Given the description of an element on the screen output the (x, y) to click on. 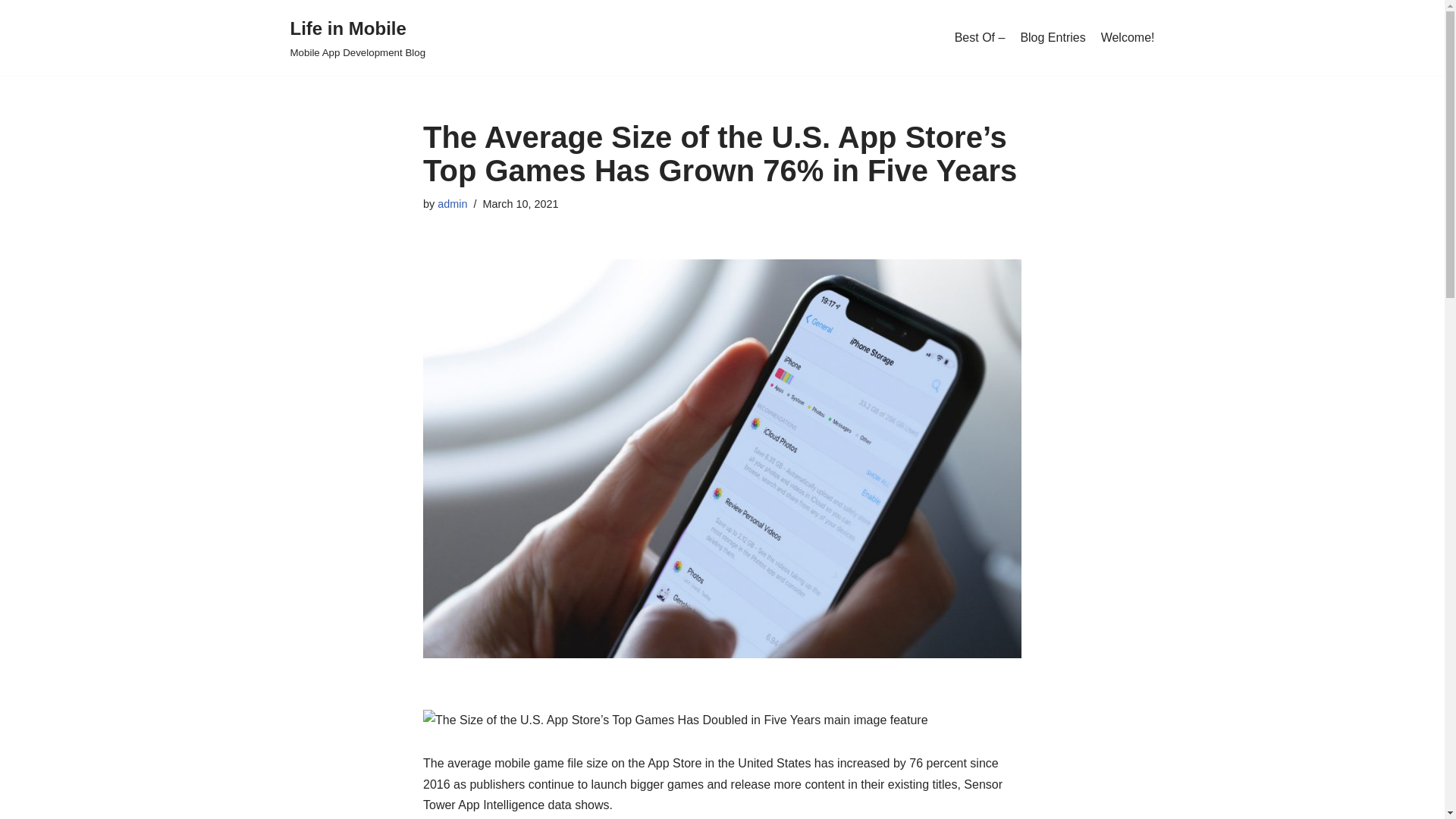
Welcome! (1127, 37)
Life in Mobile (357, 37)
Posts by admin (452, 203)
Skip to content (11, 31)
admin (357, 37)
Blog Entries (452, 203)
